Given the description of an element on the screen output the (x, y) to click on. 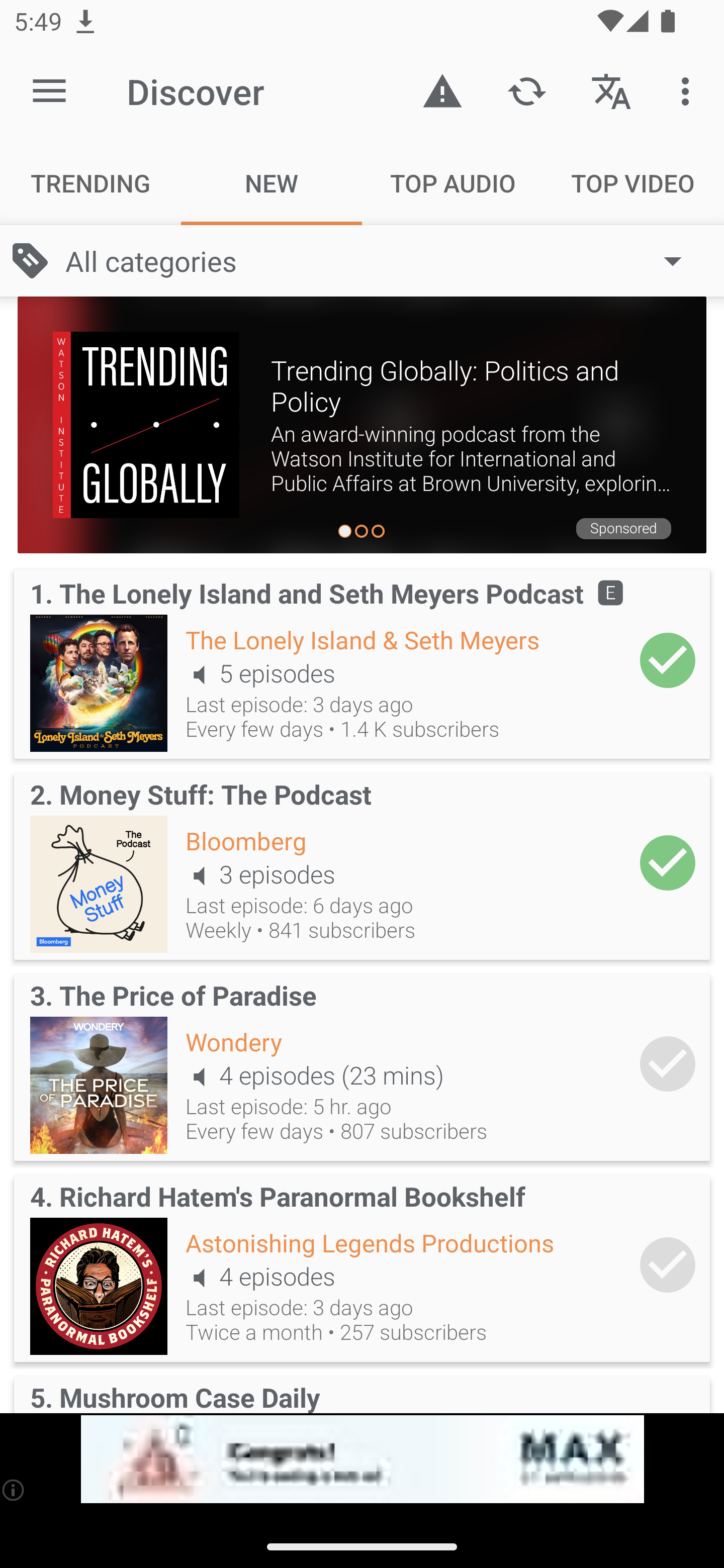
Open navigation sidebar (49, 91)
Report inappropriate content (442, 90)
Update top podcasts list (526, 90)
Podcast languages (611, 90)
More options (688, 90)
Trending TRENDING (90, 183)
Top Audio TOP AUDIO (452, 183)
Top Video TOP VIDEO (633, 183)
All categories (383, 260)
Add (667, 659)
Add (667, 862)
Add (667, 1063)
Add (667, 1265)
5. Mushroom Case Daily (362, 1390)
app-monetization (362, 1459)
(i) (14, 1489)
